Given the description of an element on the screen output the (x, y) to click on. 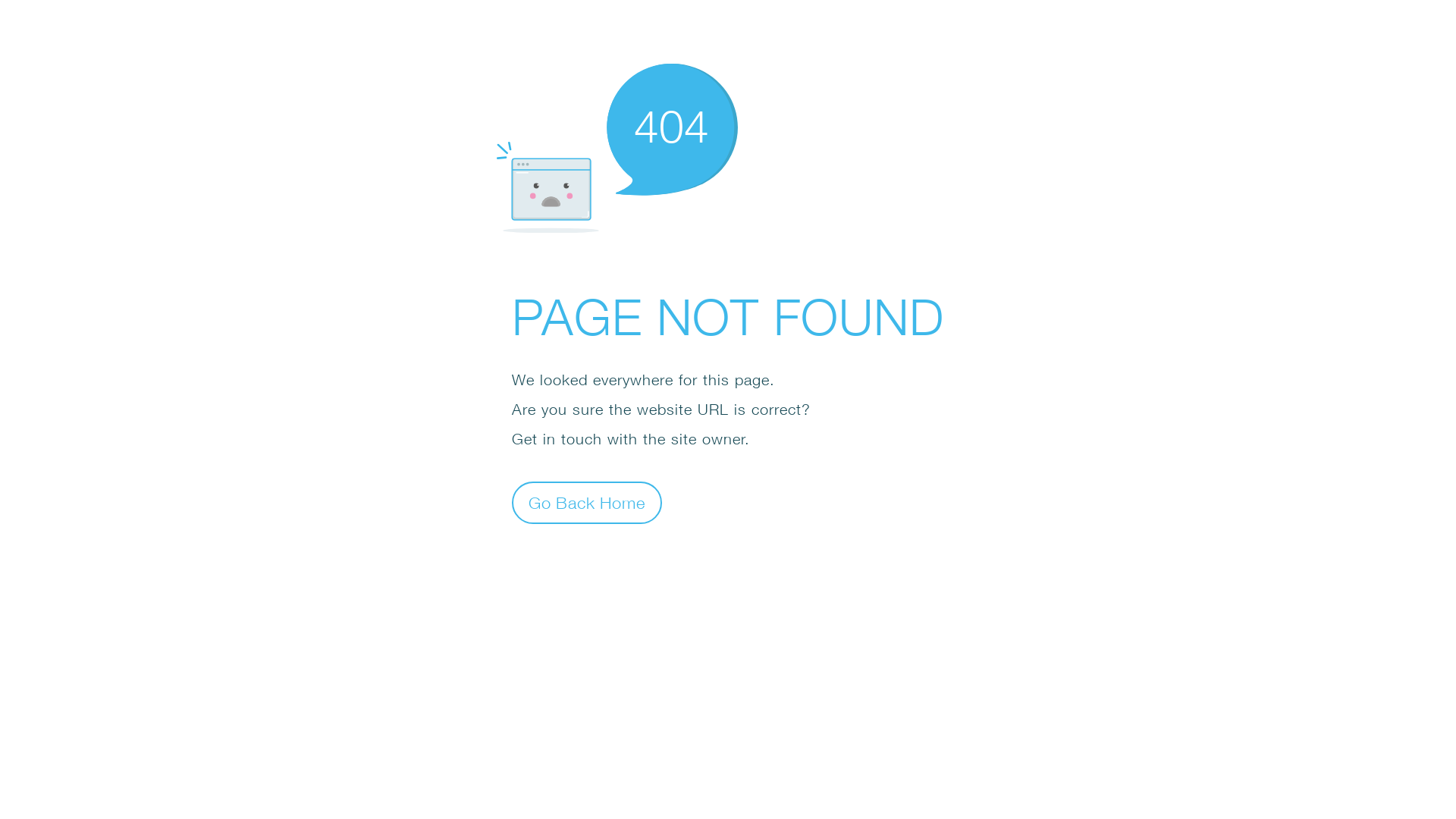
Go Back Home Element type: text (586, 502)
